Given the description of an element on the screen output the (x, y) to click on. 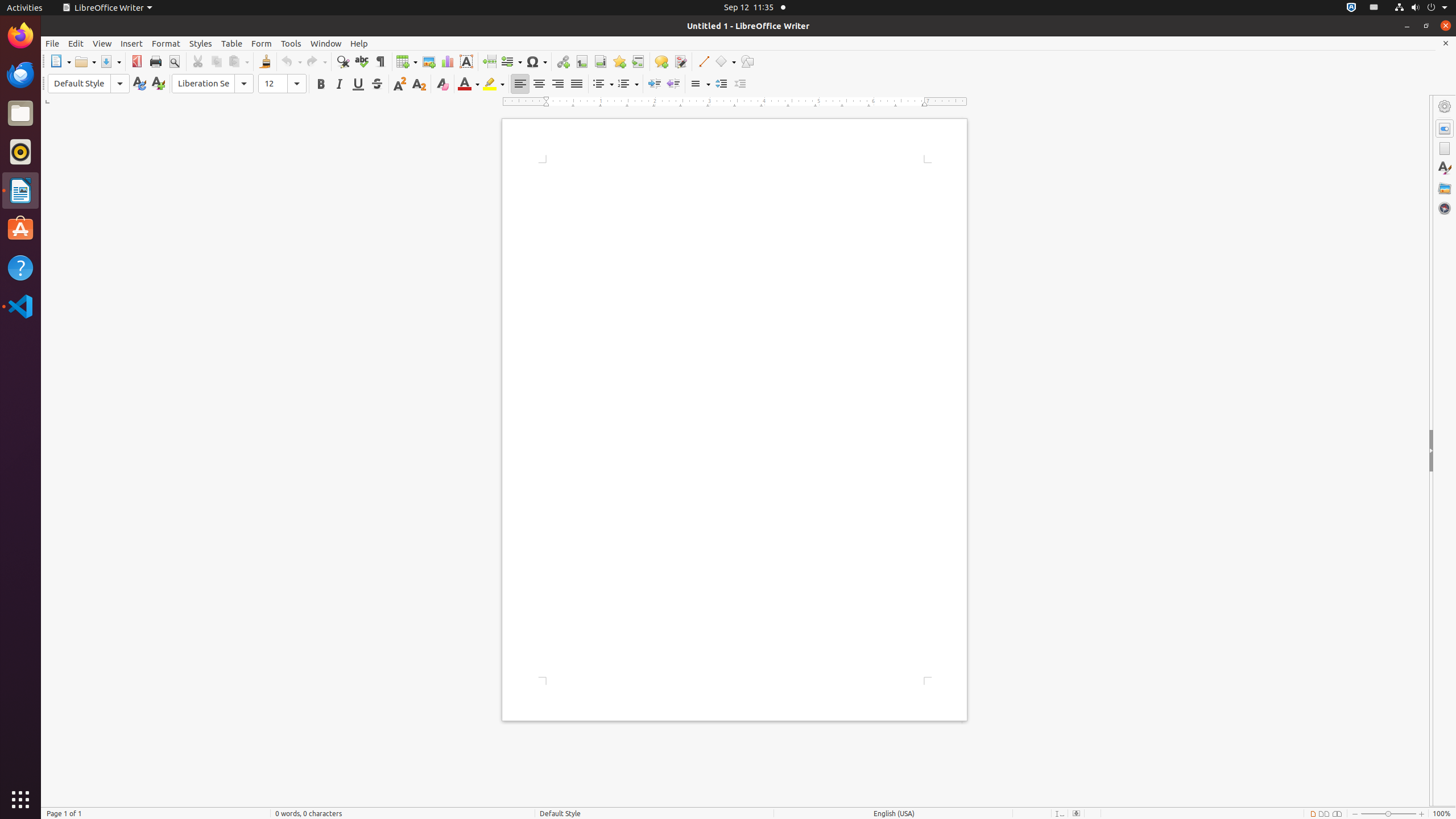
Styles Element type: menu (200, 43)
Open Element type: push-button (84, 61)
Symbol Element type: push-button (535, 61)
Help Element type: push-button (20, 267)
Window Element type: menu (325, 43)
